Given the description of an element on the screen output the (x, y) to click on. 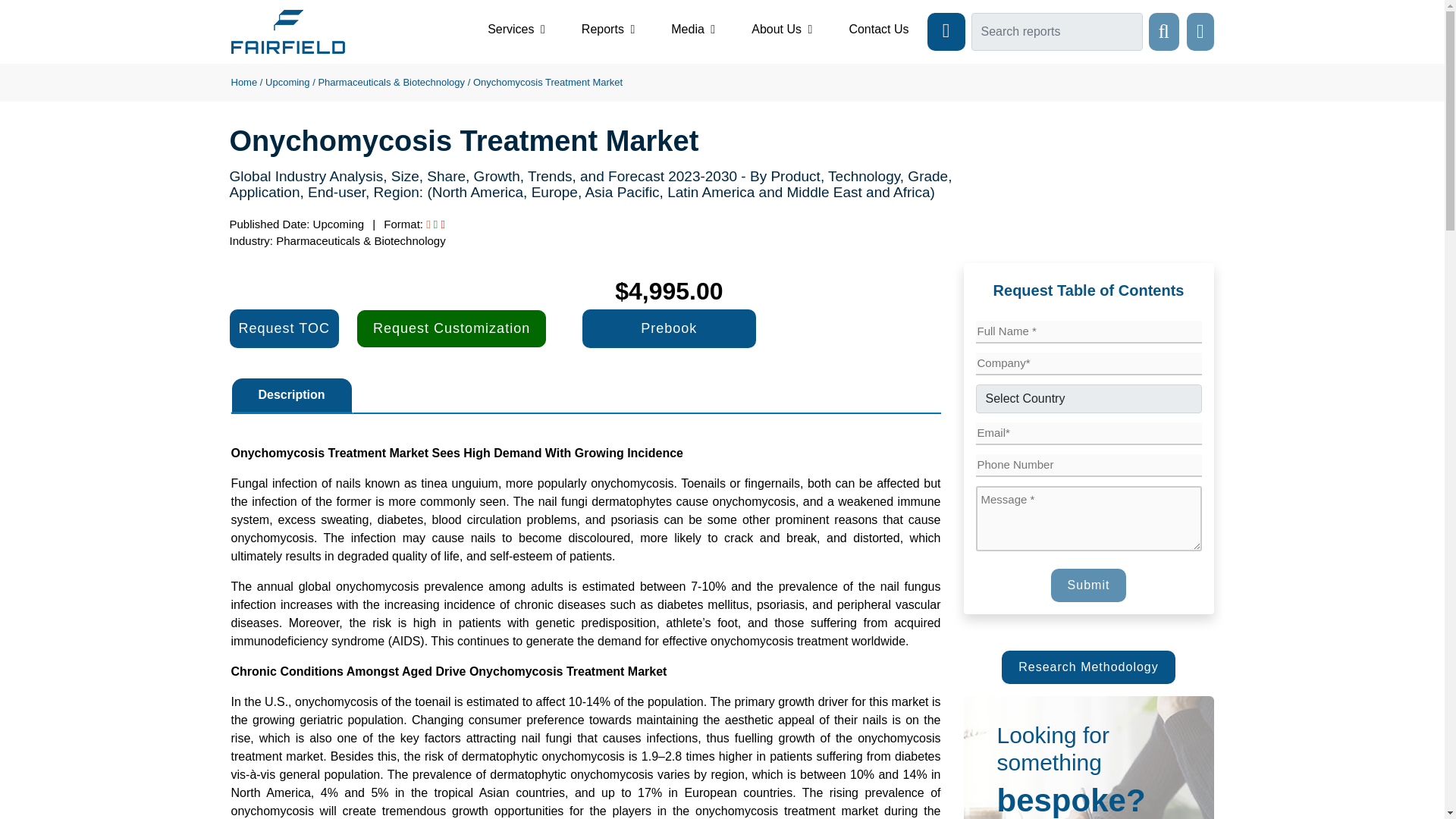
Home (243, 81)
Contact Us (877, 29)
Description (291, 394)
Request TOC (282, 328)
Onychomycosis Treatment Market (548, 81)
Upcoming (287, 81)
Request Customization (451, 328)
Services (515, 29)
Media (692, 29)
About Us (781, 29)
Prebook (668, 328)
Reports (607, 29)
